Given the description of an element on the screen output the (x, y) to click on. 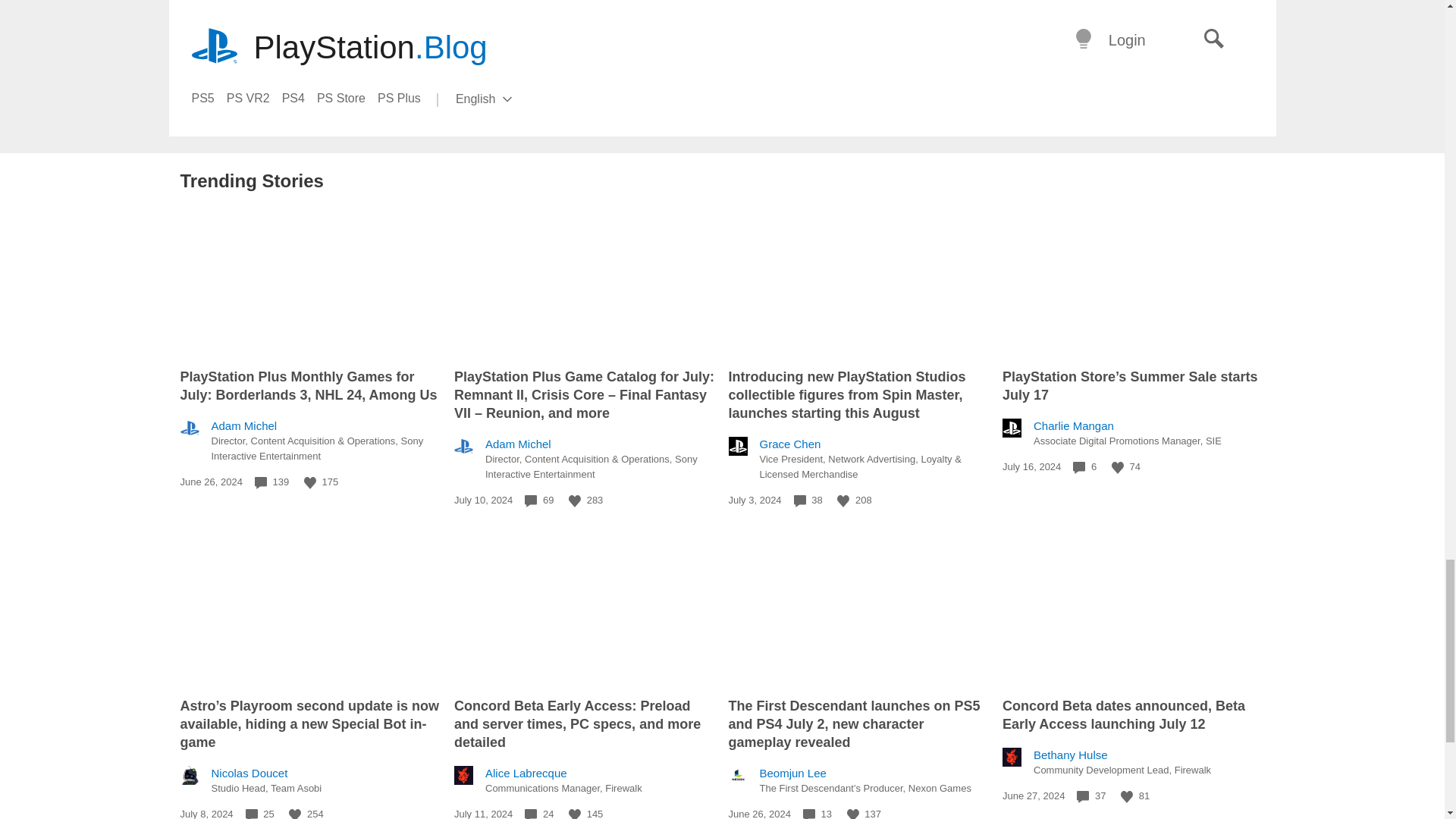
Like this (574, 500)
Like this (1118, 467)
Like this (842, 500)
Like this (309, 482)
Like this (294, 814)
